Given the description of an element on the screen output the (x, y) to click on. 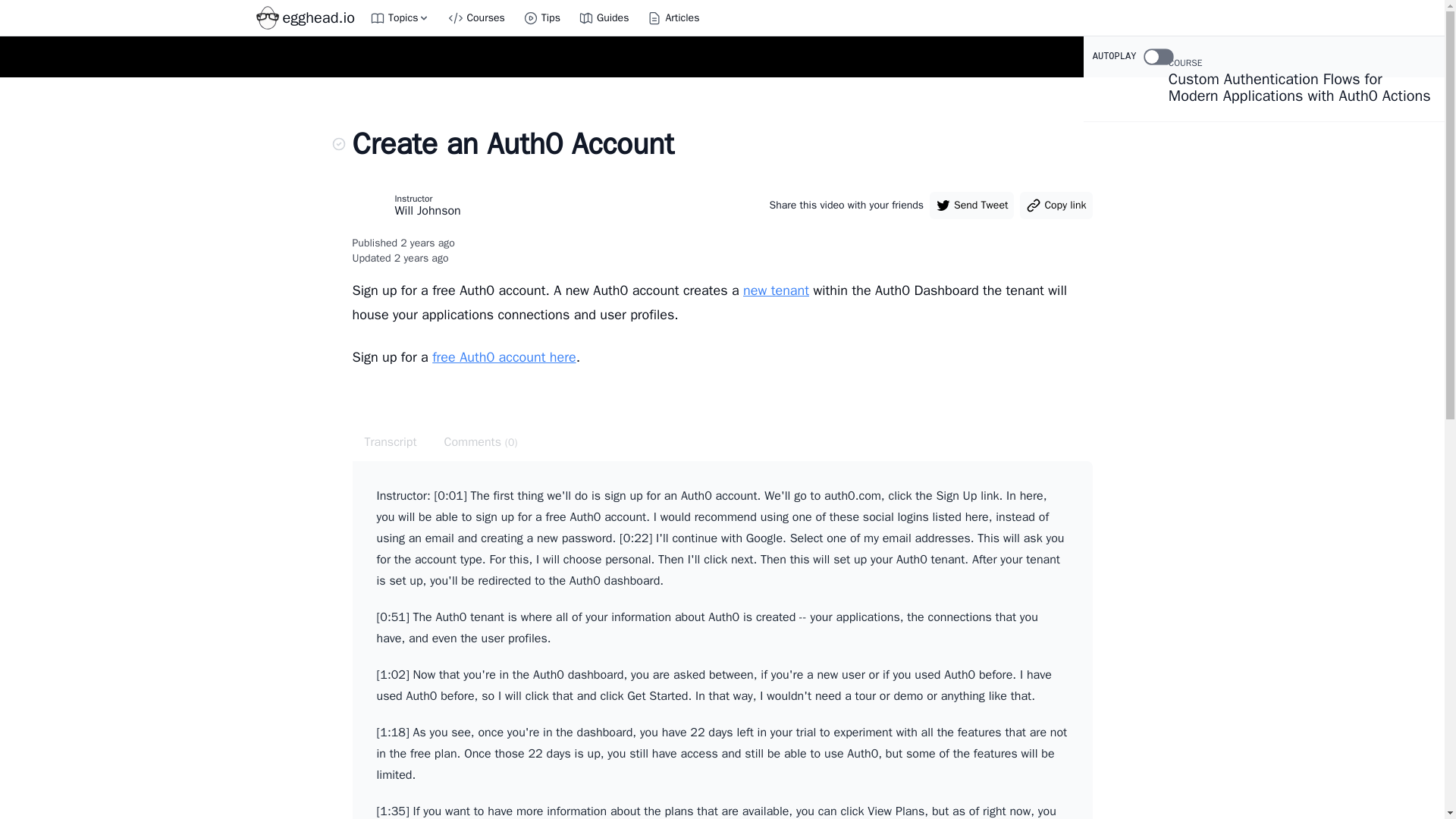
egghead.io (306, 18)
Send Tweet (971, 205)
Will Johnson (427, 211)
Articles (672, 18)
Copy link (1056, 205)
free Auth0 account here (503, 356)
new tenant (775, 289)
Guides (604, 18)
Topics (400, 18)
